Given the description of an element on the screen output the (x, y) to click on. 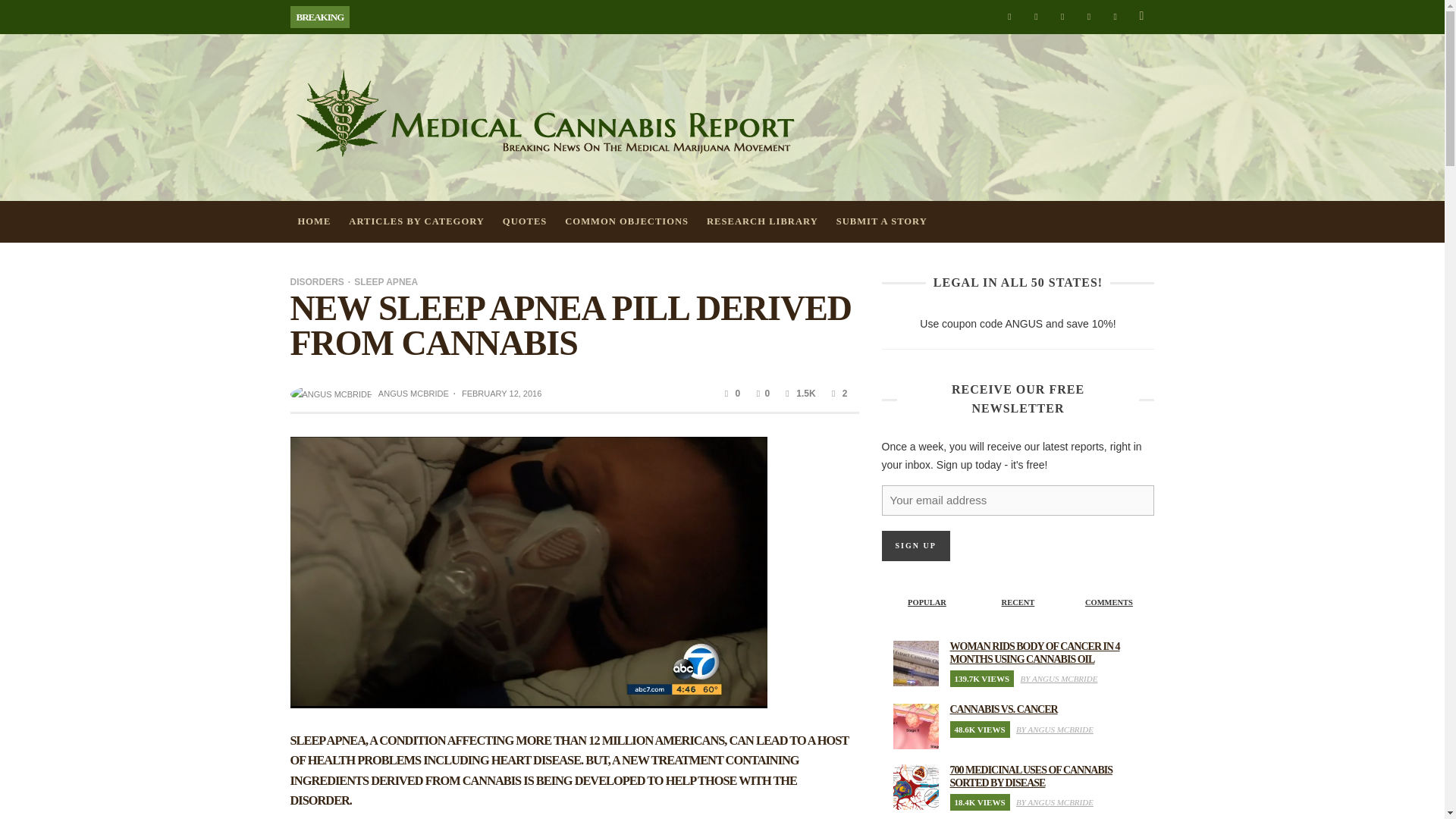
COMMON OBJECTIONS (626, 221)
Facebook (1009, 16)
Youtube (1114, 16)
HOME (313, 221)
Twitter (1089, 16)
ARTICLES BY CATEGORY (416, 221)
View all posts in Sleep Apnea (380, 281)
Permalink to New Sleep Apnea Pill Derived From Cannabis (501, 393)
SUBMIT A STORY (881, 221)
Likes (761, 393)
